Given the description of an element on the screen output the (x, y) to click on. 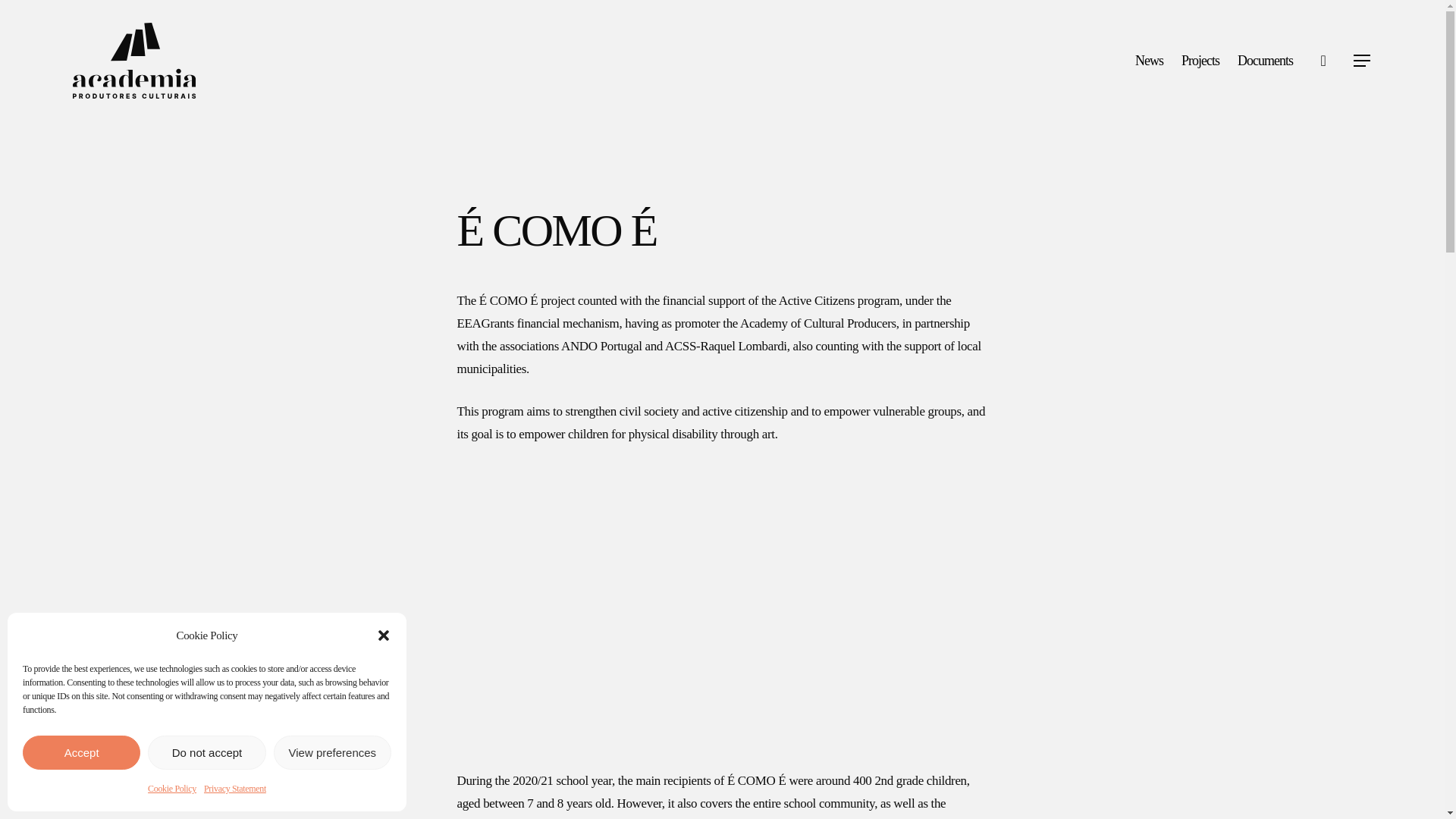
Menu (1362, 60)
View preferences (332, 752)
News (1149, 60)
Privacy Statement (234, 788)
Documents (1264, 60)
Cookie Policy (172, 788)
search (1323, 60)
Do not accept (206, 752)
Projects (1200, 60)
Accept (81, 752)
